Given the description of an element on the screen output the (x, y) to click on. 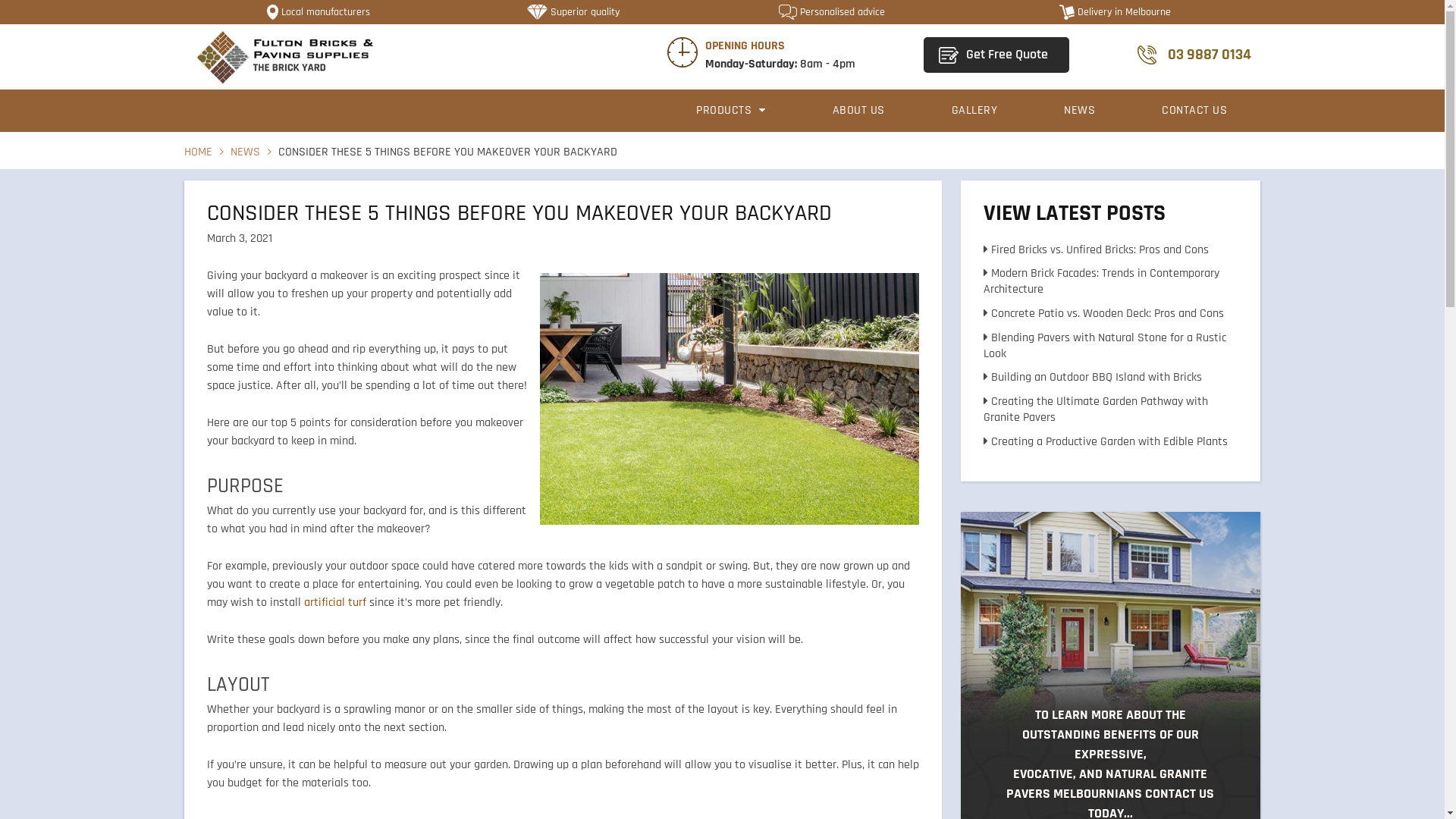
Modern Brick Facades: Trends in Contemporary Architecture Element type: text (1100, 281)
HOME Element type: text (198, 152)
ABOUT US Element type: text (857, 110)
Fired Bricks vs. Unfired Bricks: Pros and Cons Element type: text (1095, 249)
GALLERY Element type: text (974, 110)
Building an Outdoor BBQ Island with Bricks Element type: text (1091, 377)
Blending Pavers with Natural Stone for a Rustic Look Element type: text (1103, 345)
NEWS Element type: text (245, 152)
PRODUCTS Element type: text (730, 110)
NEWS Element type: text (1079, 110)
Get Free Quote Element type: text (996, 54)
Creating the Ultimate Garden Pathway with Granite Pavers Element type: text (1094, 409)
Creating a Productive Garden with Edible Plants Element type: text (1104, 441)
03 9887 0134 Element type: text (1194, 55)
CONTACT US Element type: text (1194, 110)
artificial turf Element type: text (335, 602)
Concrete Patio vs. Wooden Deck: Pros and Cons Element type: text (1102, 313)
